Given the description of an element on the screen output the (x, y) to click on. 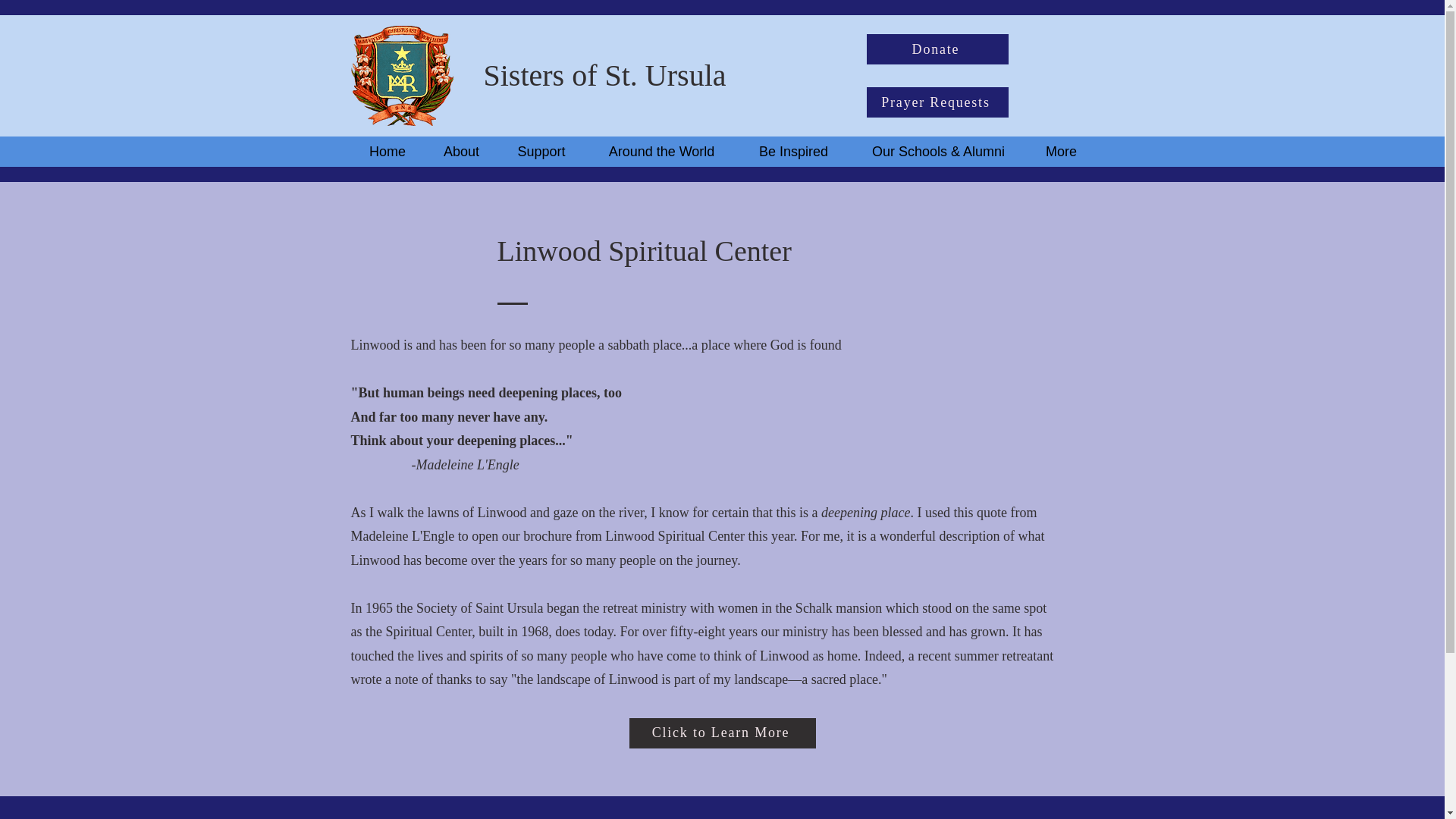
Be Inspired (793, 151)
Support (540, 151)
Sisters of St. Ursula (604, 75)
Prayer Requests (936, 101)
Donate (936, 49)
Home (386, 151)
Click to Learn More (721, 732)
